Given the description of an element on the screen output the (x, y) to click on. 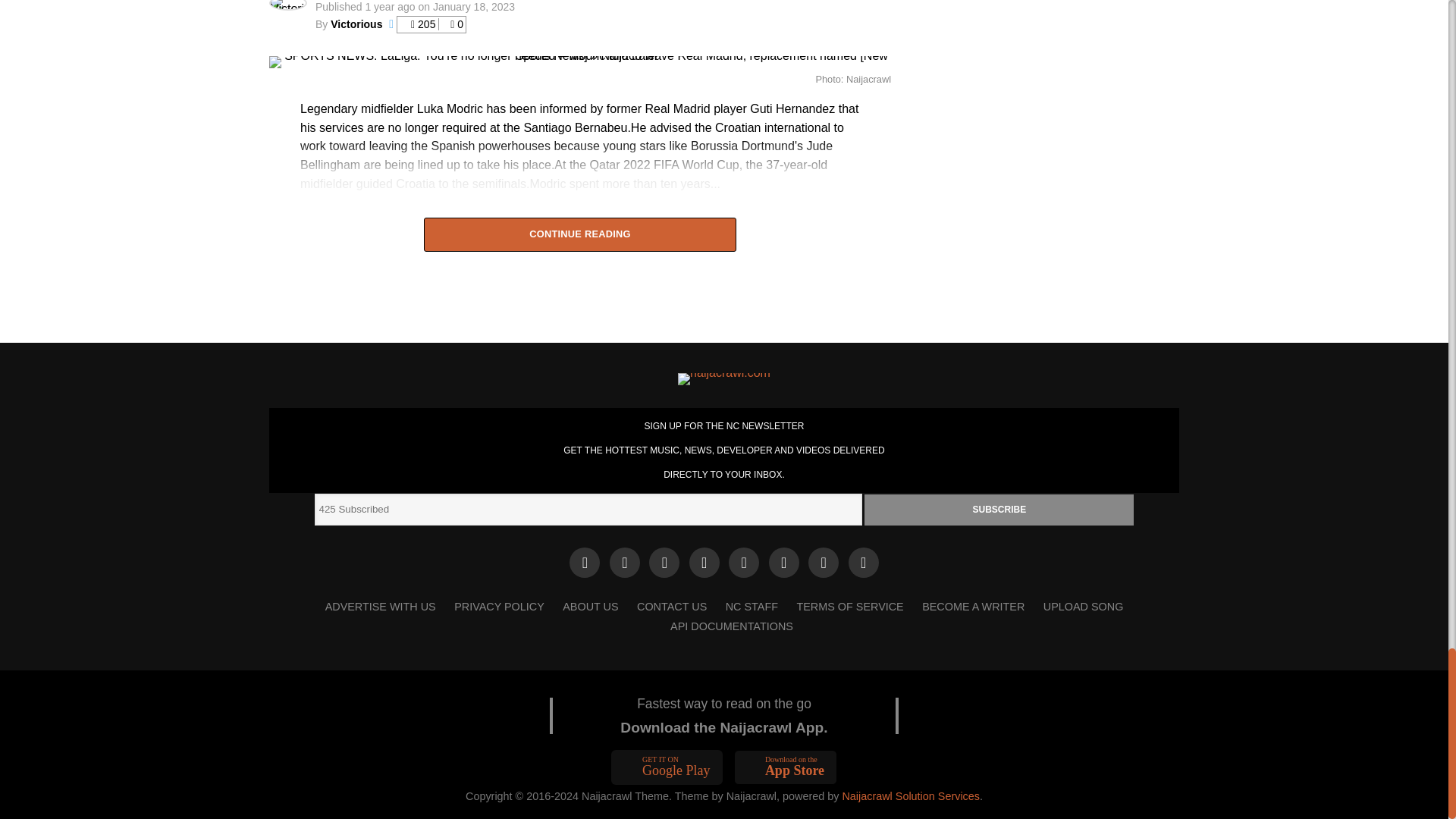
Google Play (667, 767)
Subscribe (999, 509)
Posts by Victorious (355, 24)
App Store (785, 767)
